Given the description of an element on the screen output the (x, y) to click on. 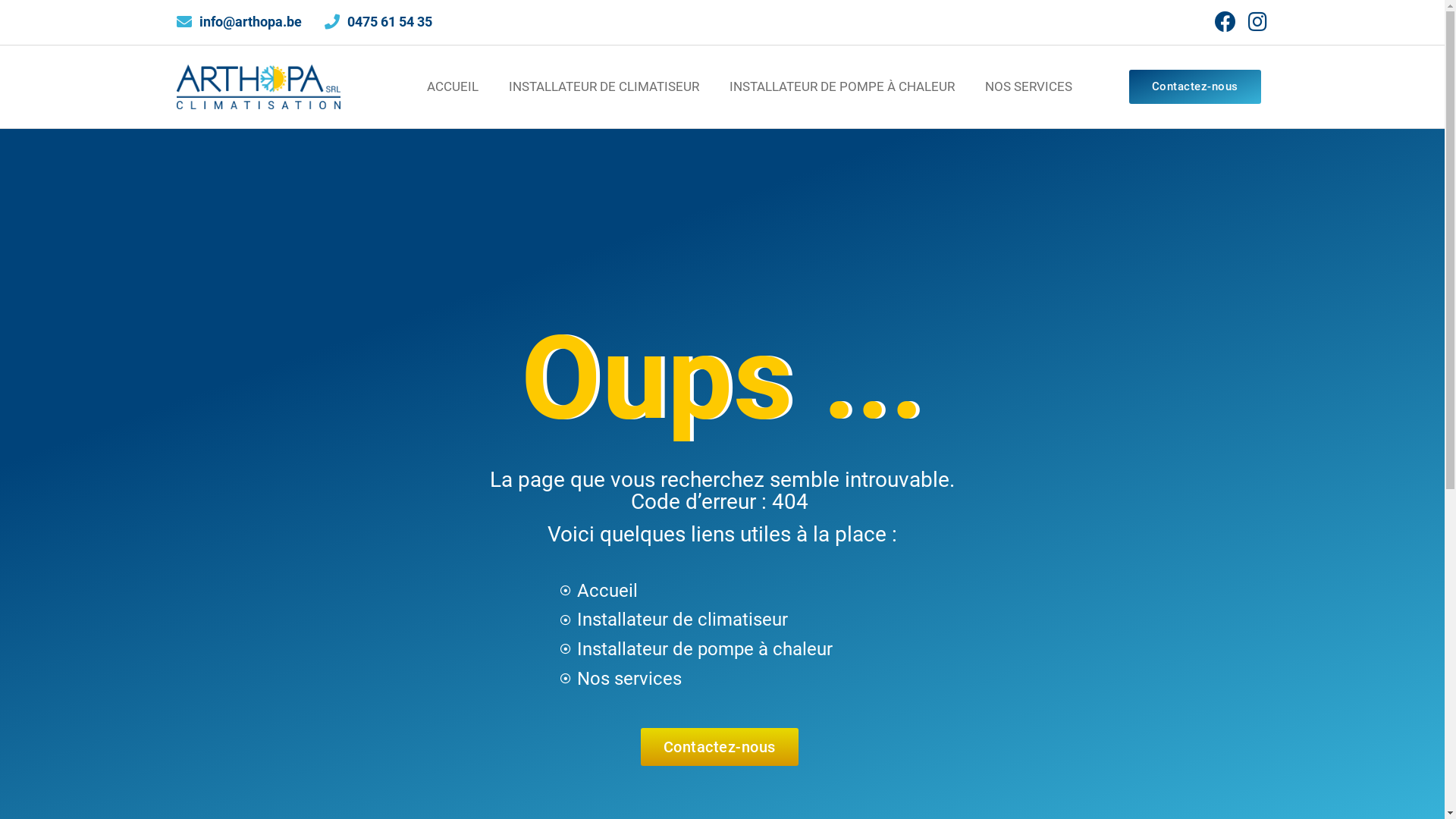
Nos services Element type: text (718, 679)
Contactez-nous Element type: text (719, 746)
INSTALLATEUR DE CLIMATISEUR Element type: text (603, 86)
NOS SERVICES Element type: text (1028, 86)
info@arthopa.be Element type: text (238, 22)
Contactez-nous Element type: text (1195, 86)
Accueil Element type: text (718, 590)
Installateur de climatiseur Element type: text (718, 619)
0475 61 54 35 Element type: text (378, 22)
ACCUEIL Element type: text (452, 86)
